Given the description of an element on the screen output the (x, y) to click on. 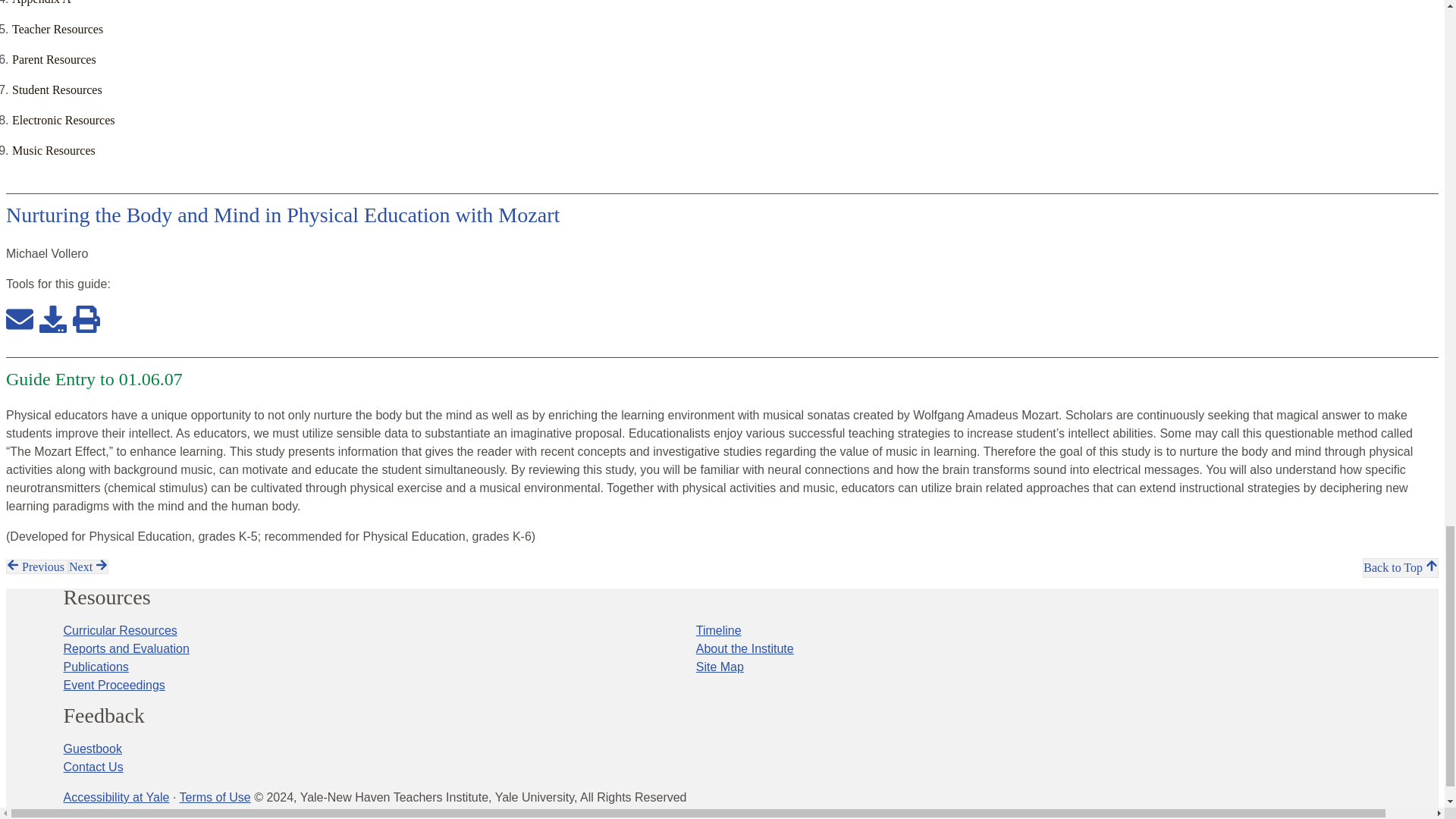
share email link (19, 329)
print pdf version (86, 329)
download pdf (52, 329)
